Given the description of an element on the screen output the (x, y) to click on. 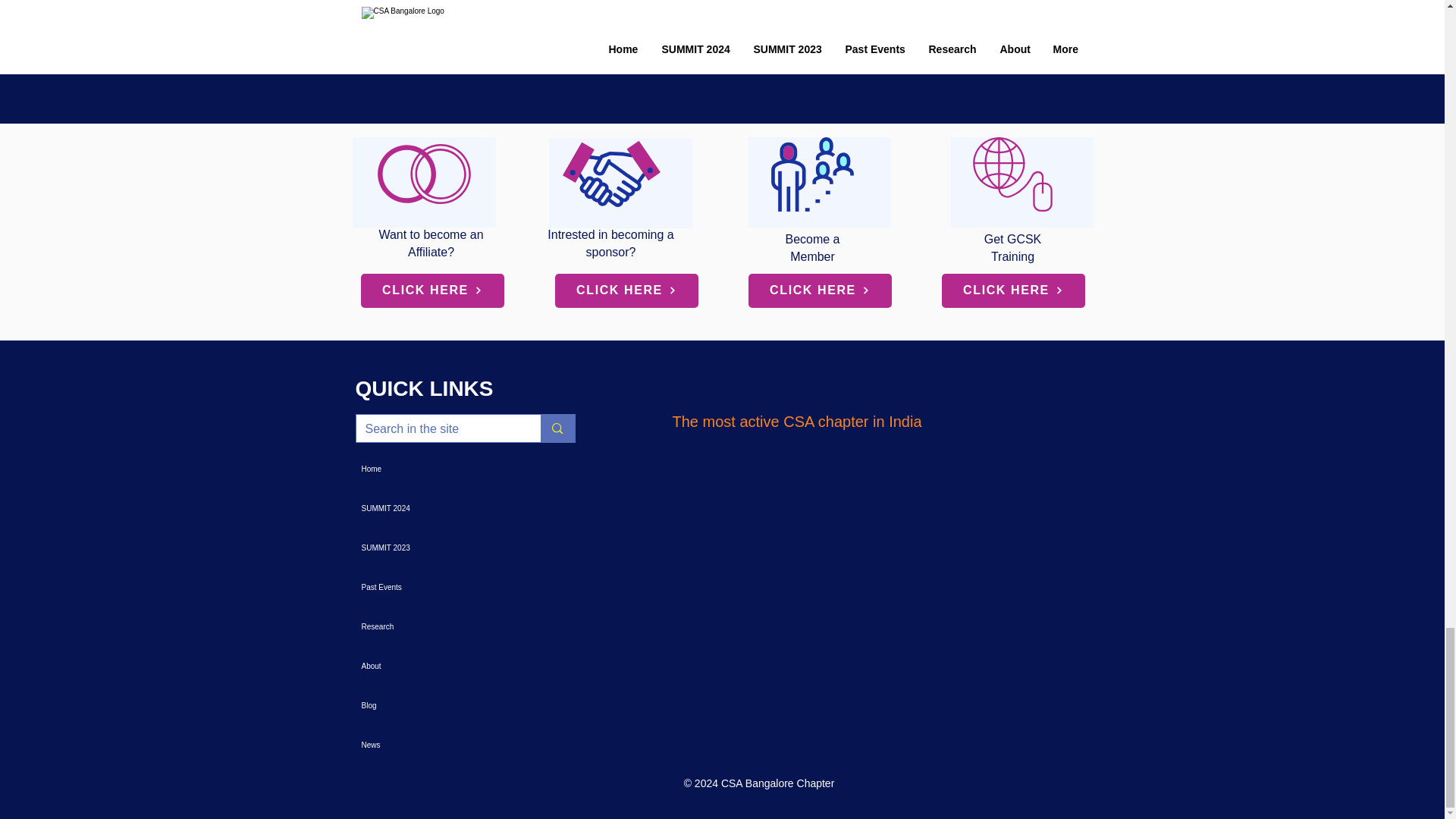
Blog (432, 705)
CLICK HERE (432, 290)
Past Events (432, 587)
Research (432, 627)
Home (432, 468)
CLICK HERE (1013, 290)
About (432, 666)
SUMMIT 2023 (432, 548)
CLICK HERE (626, 290)
SUMMIT 2024 (432, 508)
